Given the description of an element on the screen output the (x, y) to click on. 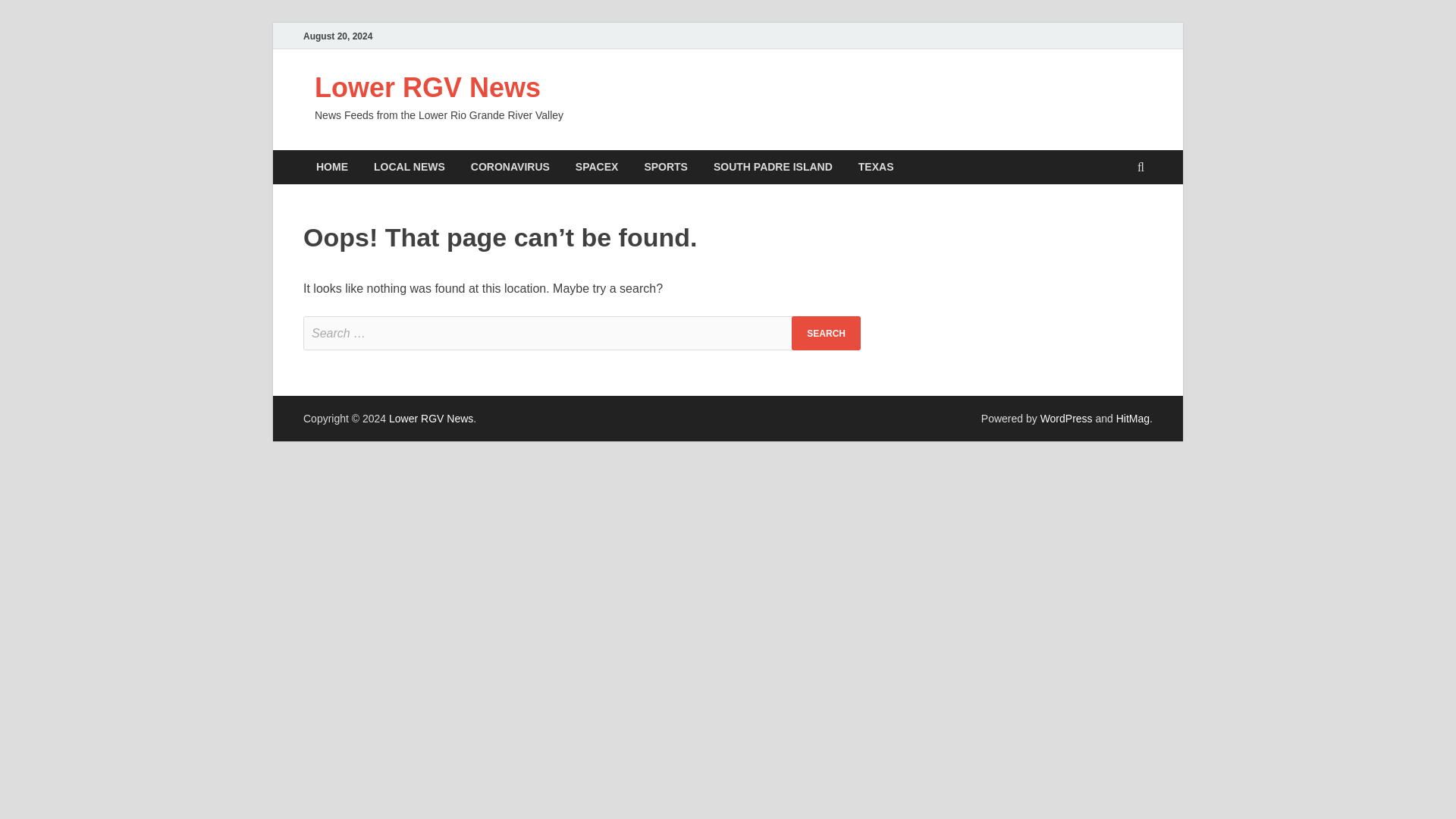
Search (826, 333)
Search (826, 333)
SPACEX (596, 166)
LOCAL NEWS (409, 166)
SPORTS (665, 166)
SOUTH PADRE ISLAND (772, 166)
CORONAVIRUS (510, 166)
HOME (331, 166)
TEXAS (876, 166)
Search (826, 333)
